Given the description of an element on the screen output the (x, y) to click on. 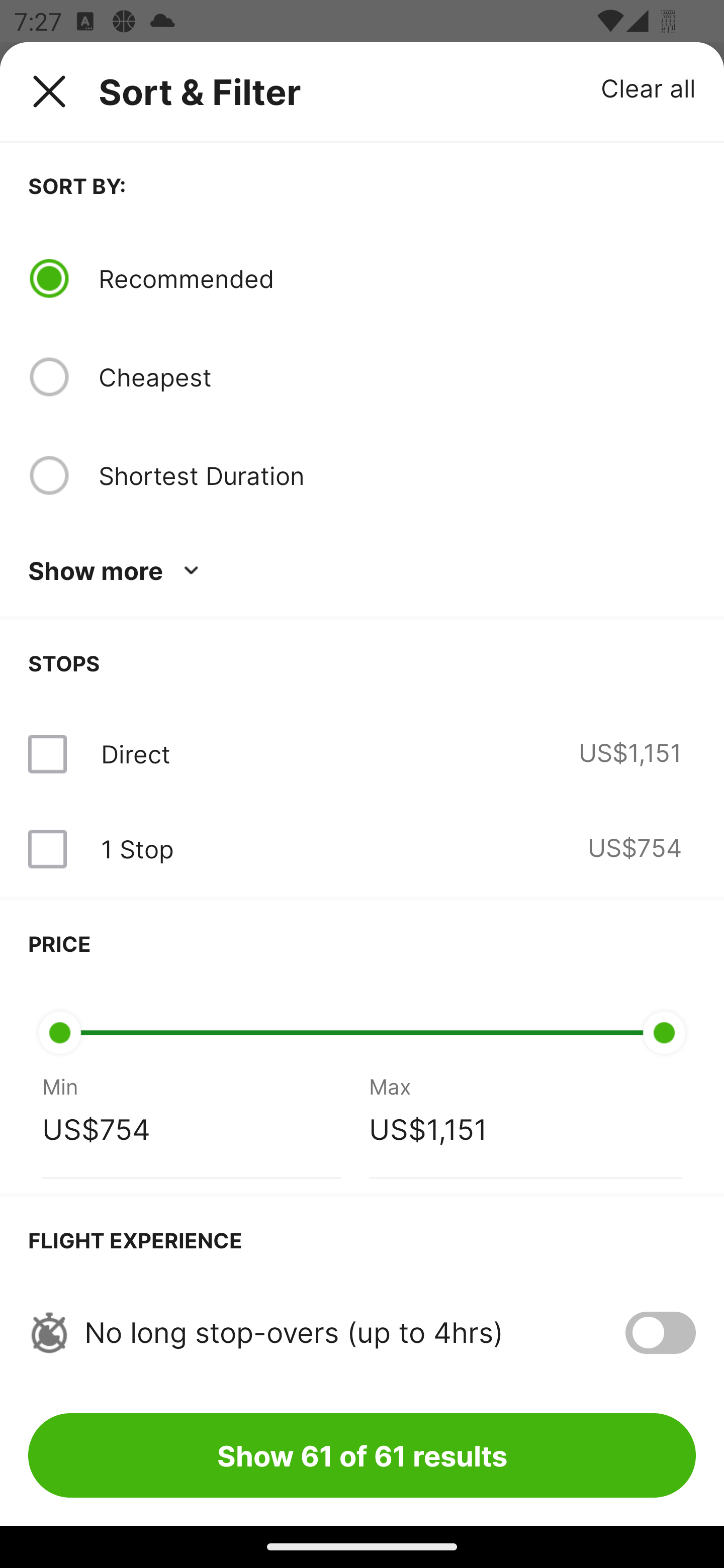
Clear all (648, 87)
Recommended  (396, 278)
Cheapest (396, 377)
Shortest Duration (396, 474)
Show more (116, 570)
Direct US$1,151 (362, 754)
Direct (135, 753)
1 Stop US$754 (362, 848)
1 Stop (136, 849)
Show 61 of 61 results (361, 1454)
